Given the description of an element on the screen output the (x, y) to click on. 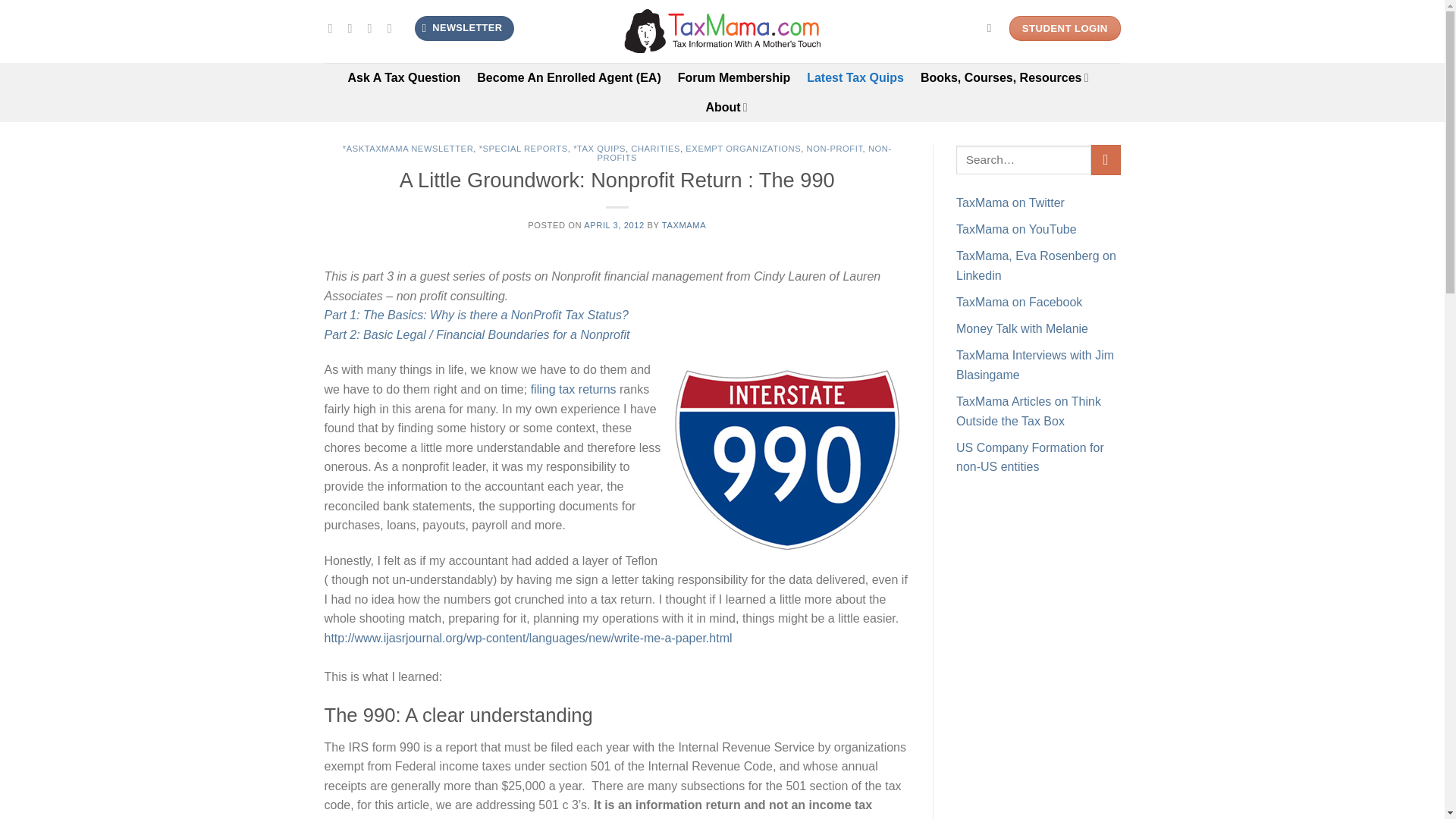
About (725, 107)
Sign up for Our Newsletter (463, 27)
Part 1: The Basics: Why is there a NonProfit Tax Status? (476, 314)
NON-PROFIT (834, 148)
Follow on Facebook (333, 28)
STUDENT LOGIN (1065, 28)
CHARITIES (654, 148)
NEWSLETTER (463, 27)
Latest Tax Quips (855, 77)
APRIL 3, 2012 (614, 225)
EXEMPT ORGANIZATIONS (742, 148)
TAXMAMA (684, 225)
Books, Courses, Resources (1004, 77)
Follow on Twitter (353, 28)
Forum Membership (734, 77)
